Given the description of an element on the screen output the (x, y) to click on. 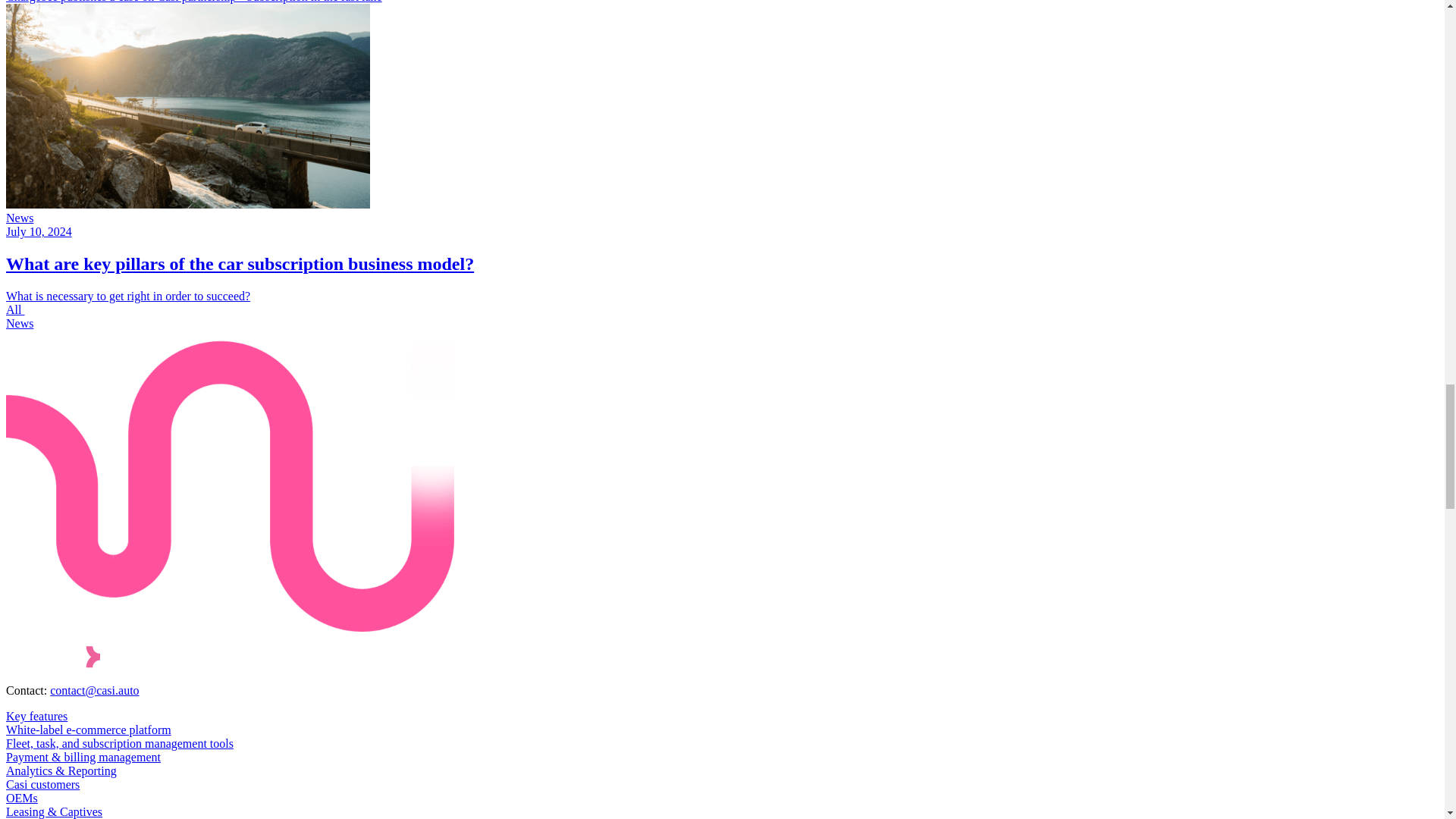
Fleet, task, and subscription management tools (118, 743)
White-label e-commerce platform (88, 729)
OEMs (21, 797)
